Given the description of an element on the screen output the (x, y) to click on. 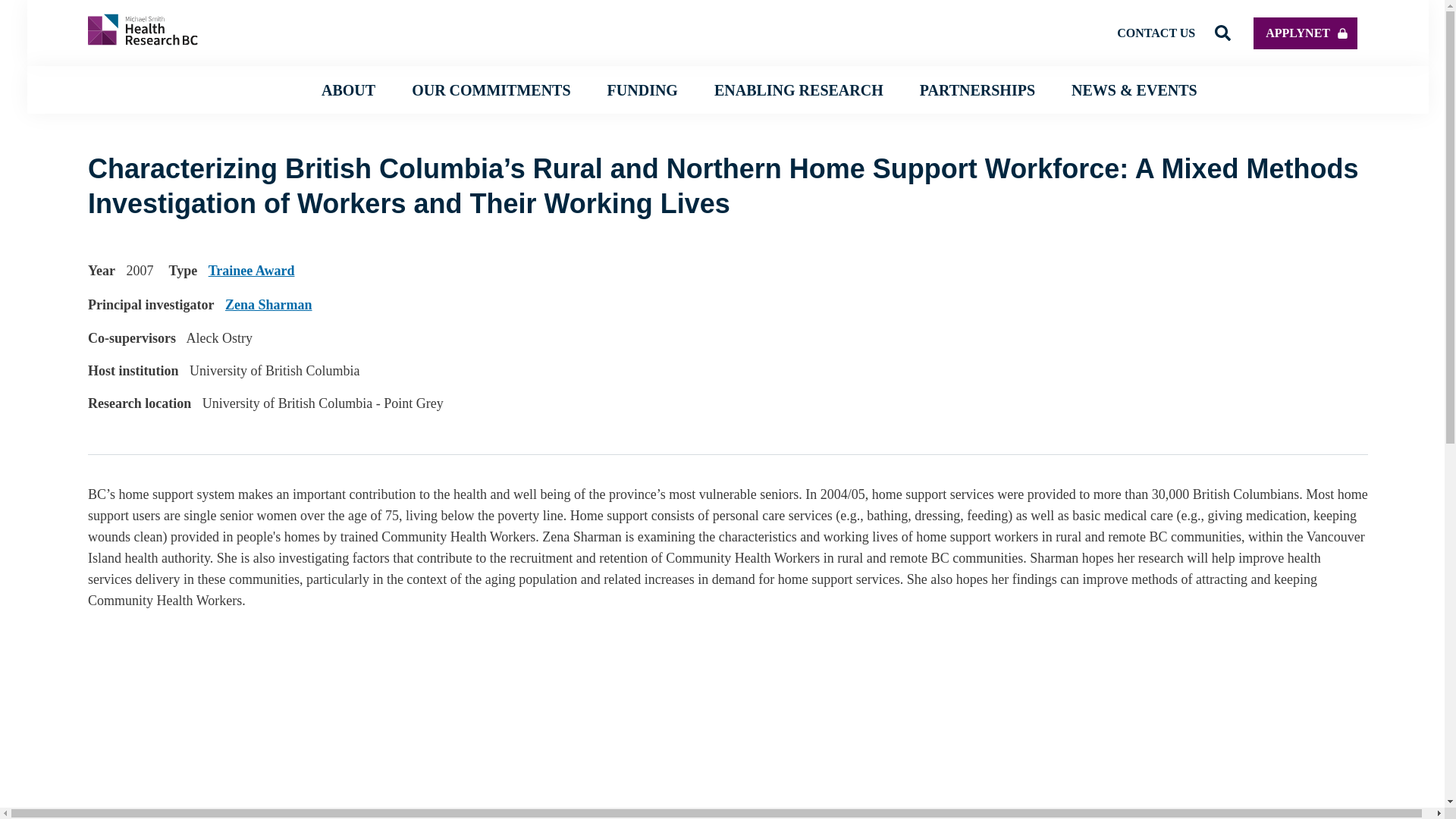
ENABLING RESEARCH (798, 89)
FUNDING (642, 89)
CONTACT US (1155, 32)
OUR COMMITMENTS (491, 89)
ABOUT (348, 89)
APPLYNET (1304, 32)
